Given the description of an element on the screen output the (x, y) to click on. 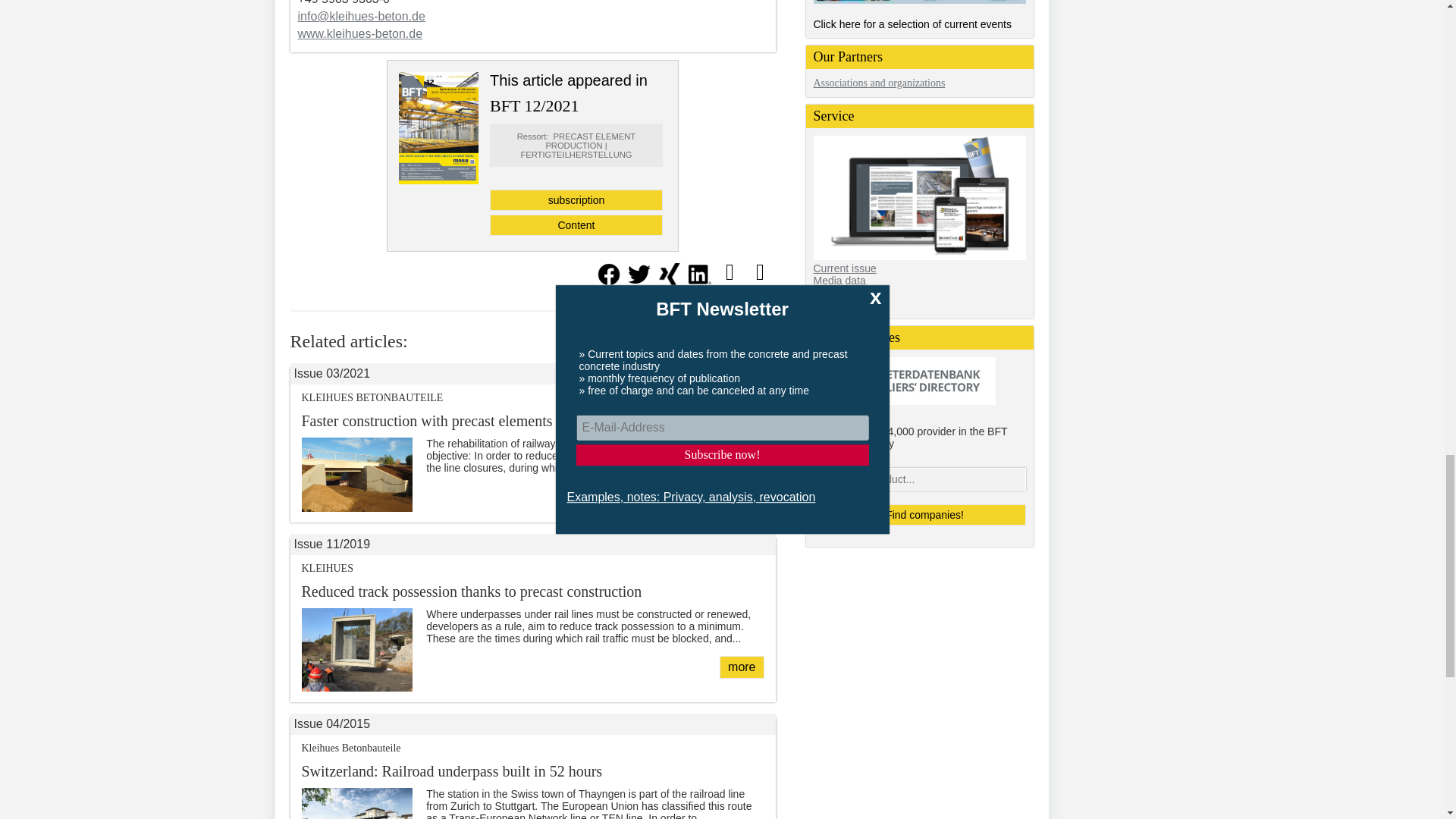
Suchen (918, 514)
Per E-Mail teilen (729, 271)
Auf LinkedIn teilen (699, 281)
Reduced track possession thanks to precast construction (740, 667)
Artikel drucken (759, 271)
www.kleihues-beton.de (359, 33)
Content (575, 224)
subscription (575, 199)
Tweet auf Twitter (638, 281)
Bau-Produkte oder Anbieter (918, 478)
Auf facebook teilen (607, 281)
Auf Xing teilen (668, 281)
